Given the description of an element on the screen output the (x, y) to click on. 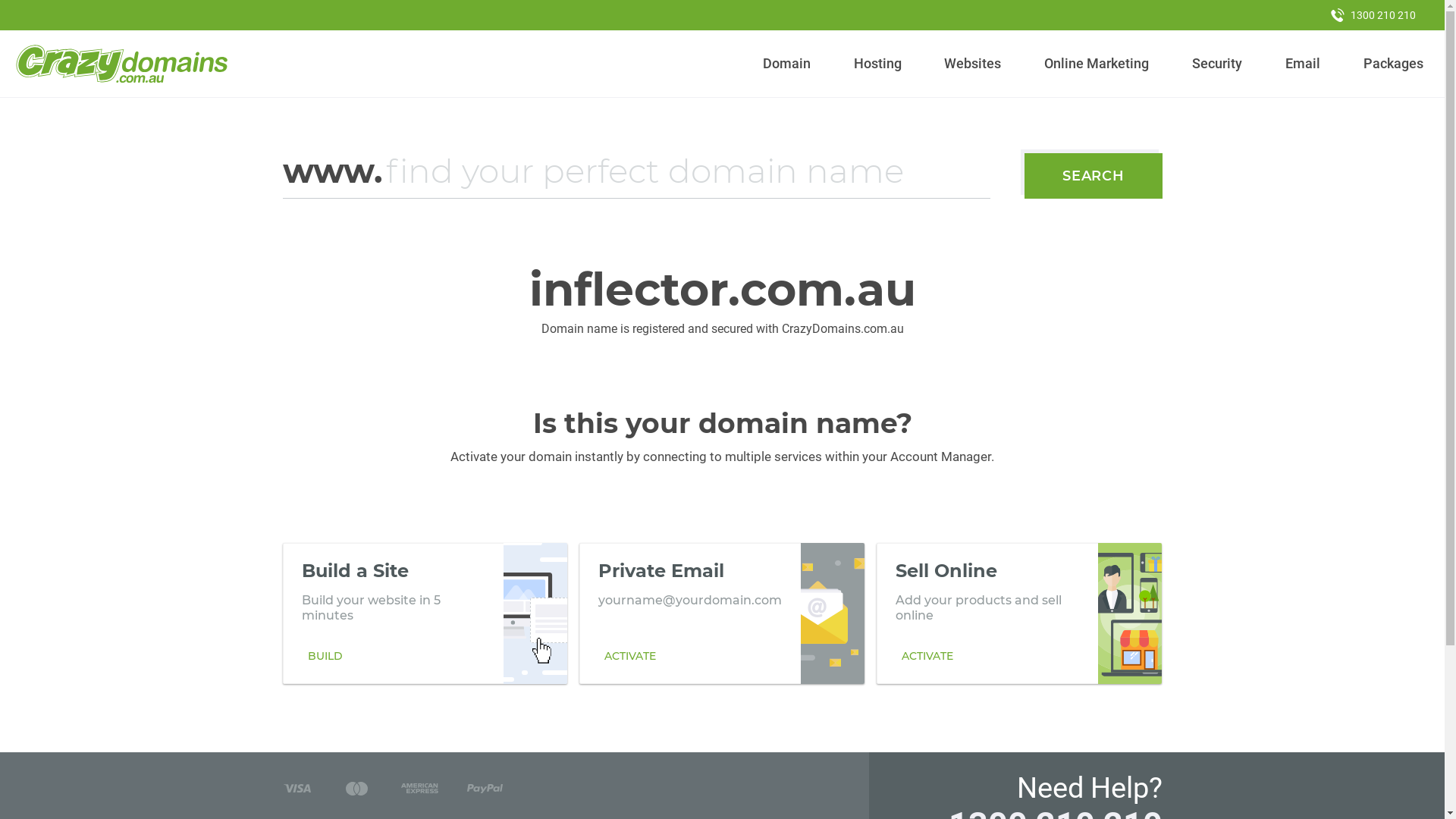
Websites Element type: text (972, 63)
SEARCH Element type: text (1092, 175)
Private Email
yourname@yourdomain.com
ACTIVATE Element type: text (721, 613)
Hosting Element type: text (877, 63)
1300 210 210 Element type: text (1373, 15)
Packages Element type: text (1392, 63)
Online Marketing Element type: text (1096, 63)
Sell Online
Add your products and sell online
ACTIVATE Element type: text (1018, 613)
Build a Site
Build your website in 5 minutes
BUILD Element type: text (424, 613)
Email Element type: text (1302, 63)
Security Element type: text (1217, 63)
Domain Element type: text (786, 63)
